Given the description of an element on the screen output the (x, y) to click on. 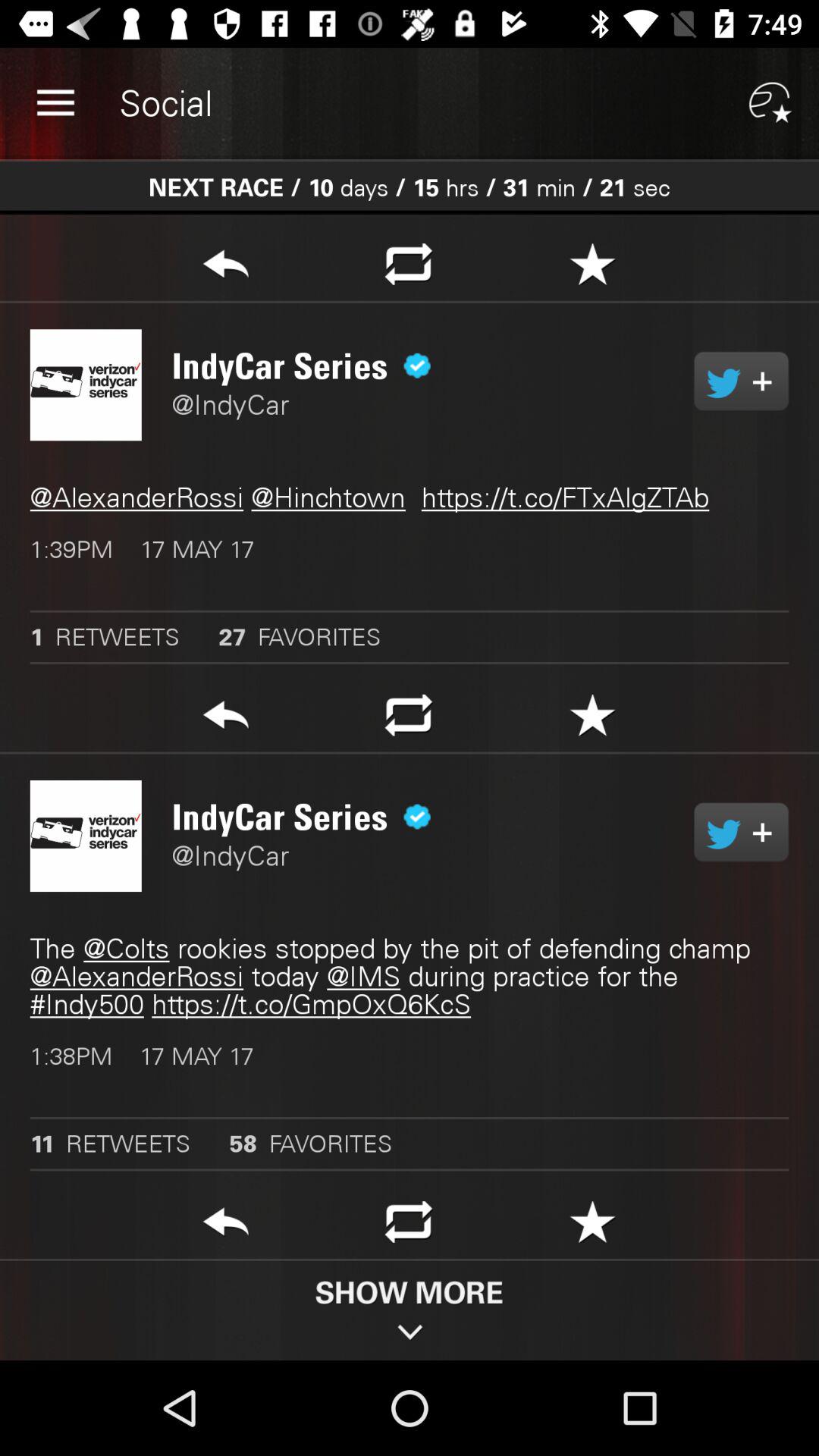
it is a special symbol (592, 268)
